Given the description of an element on the screen output the (x, y) to click on. 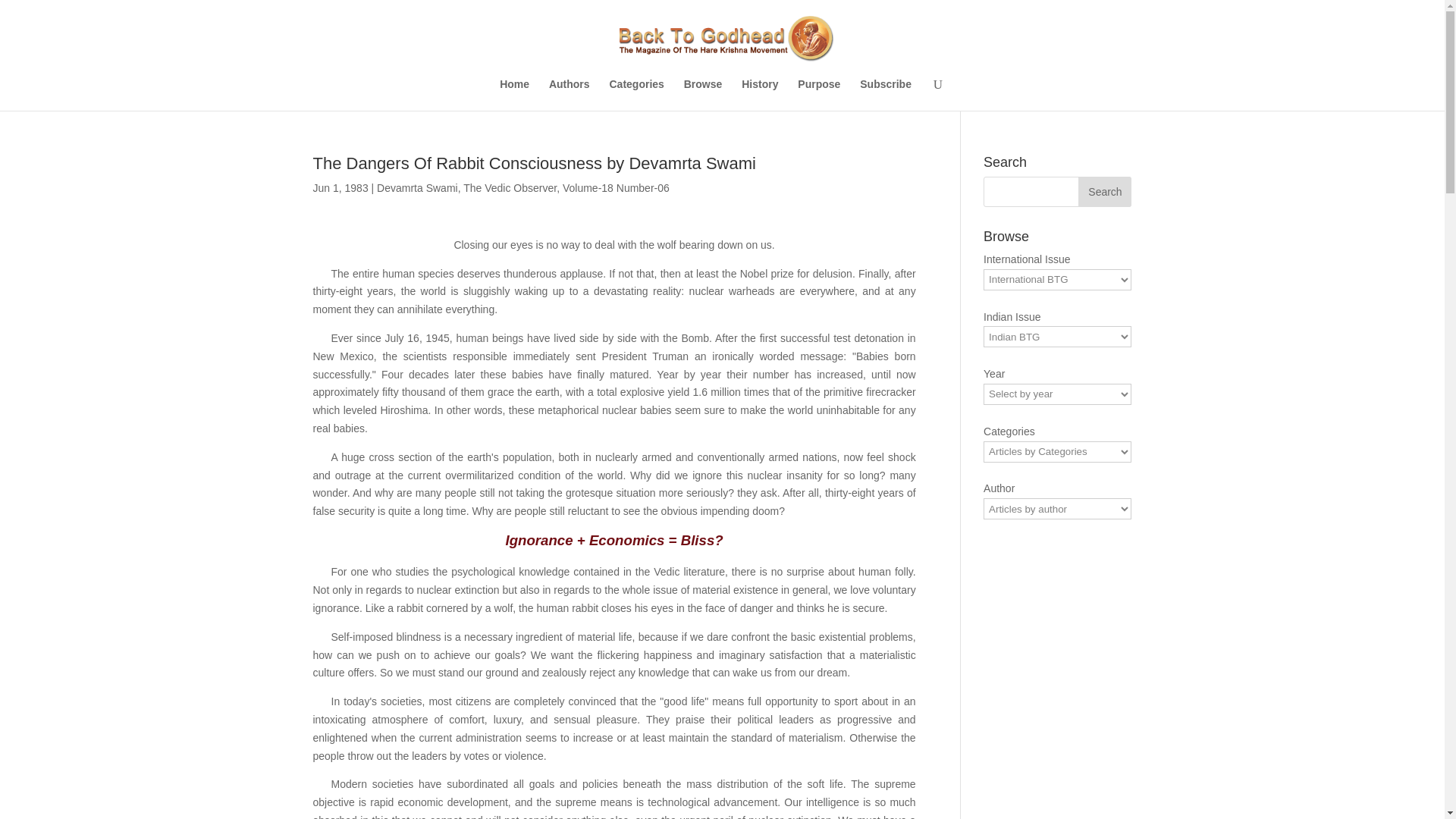
Devamrta Swami (417, 187)
Categories (636, 94)
Purpose (818, 94)
Search (1104, 191)
Browse (703, 94)
Volume-18 Number-06 (615, 187)
Subscribe (885, 94)
Authors (568, 94)
Browse (703, 94)
History (759, 94)
